Given the description of an element on the screen output the (x, y) to click on. 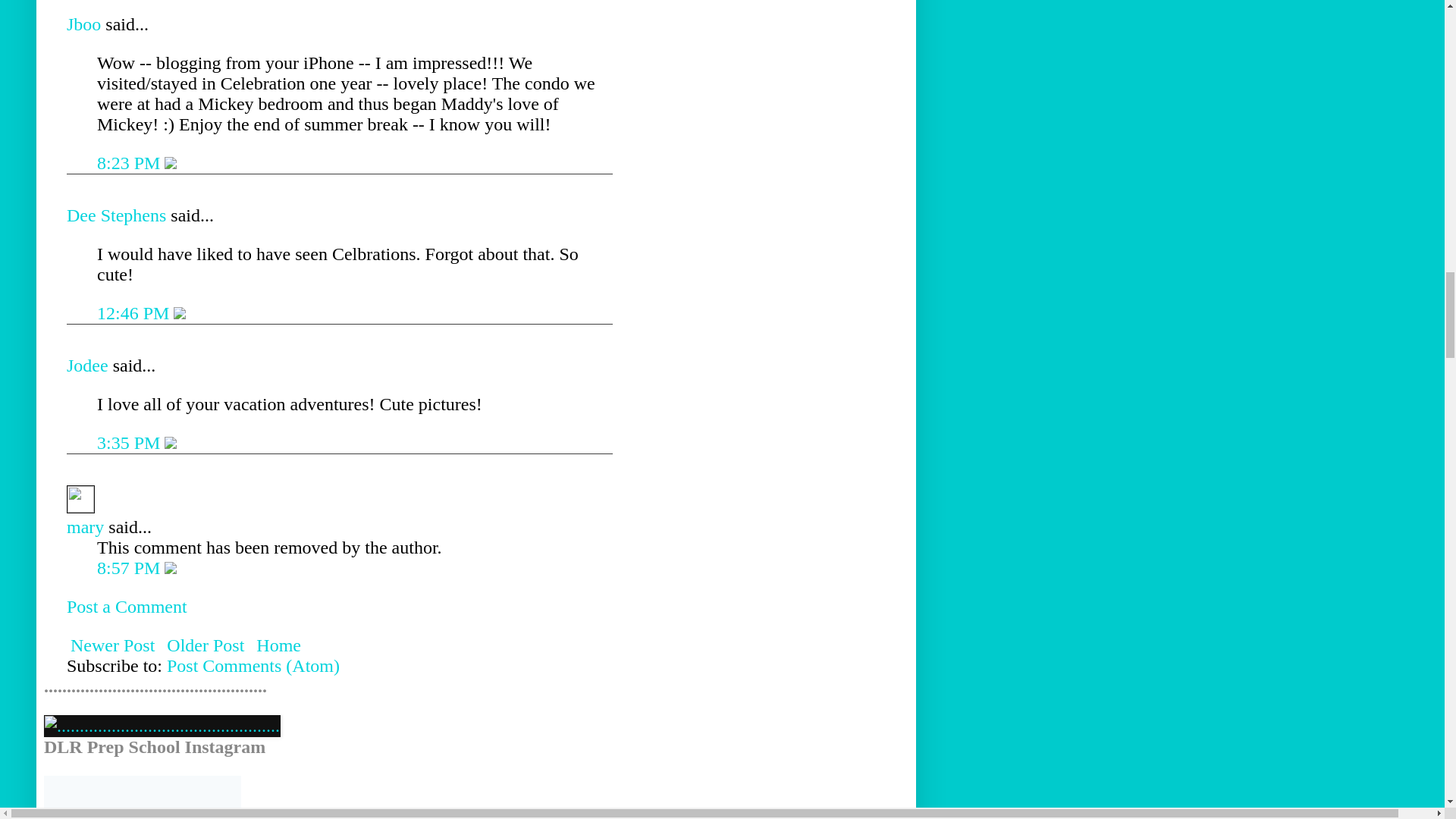
comment permalink (135, 312)
Delete Comment (170, 162)
comment permalink (130, 162)
Delete Comment (179, 312)
Jboo (83, 24)
12:46 PM (135, 312)
3:35 PM (130, 442)
mary (80, 499)
Jodee (86, 365)
Delete Comment (170, 442)
Dee Stephens (115, 215)
comment permalink (130, 442)
8:23 PM (130, 162)
